Given the description of an element on the screen output the (x, y) to click on. 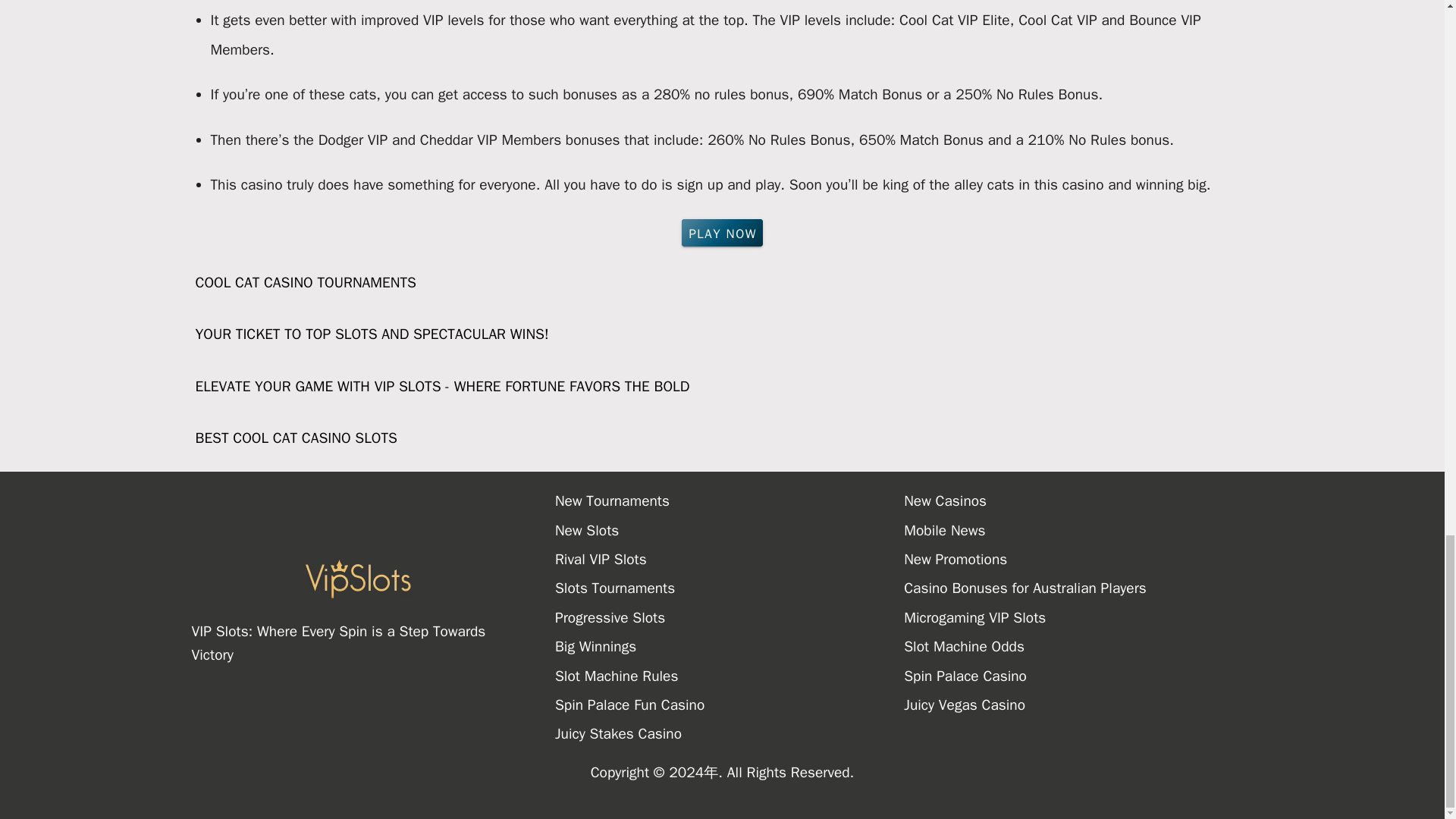
Microgaming VIP Slots (1078, 617)
Slot Machine Rules (729, 676)
Casino Bonuses for Australian Players (1078, 588)
New Slots (729, 530)
Big Winnings (729, 646)
Juicy Vegas Casino (1078, 705)
Rival VIP Slots (729, 559)
New Promotions (1078, 559)
Juicy Stakes Casino (729, 733)
Spin Palace Casino (1078, 676)
